Given the description of an element on the screen output the (x, y) to click on. 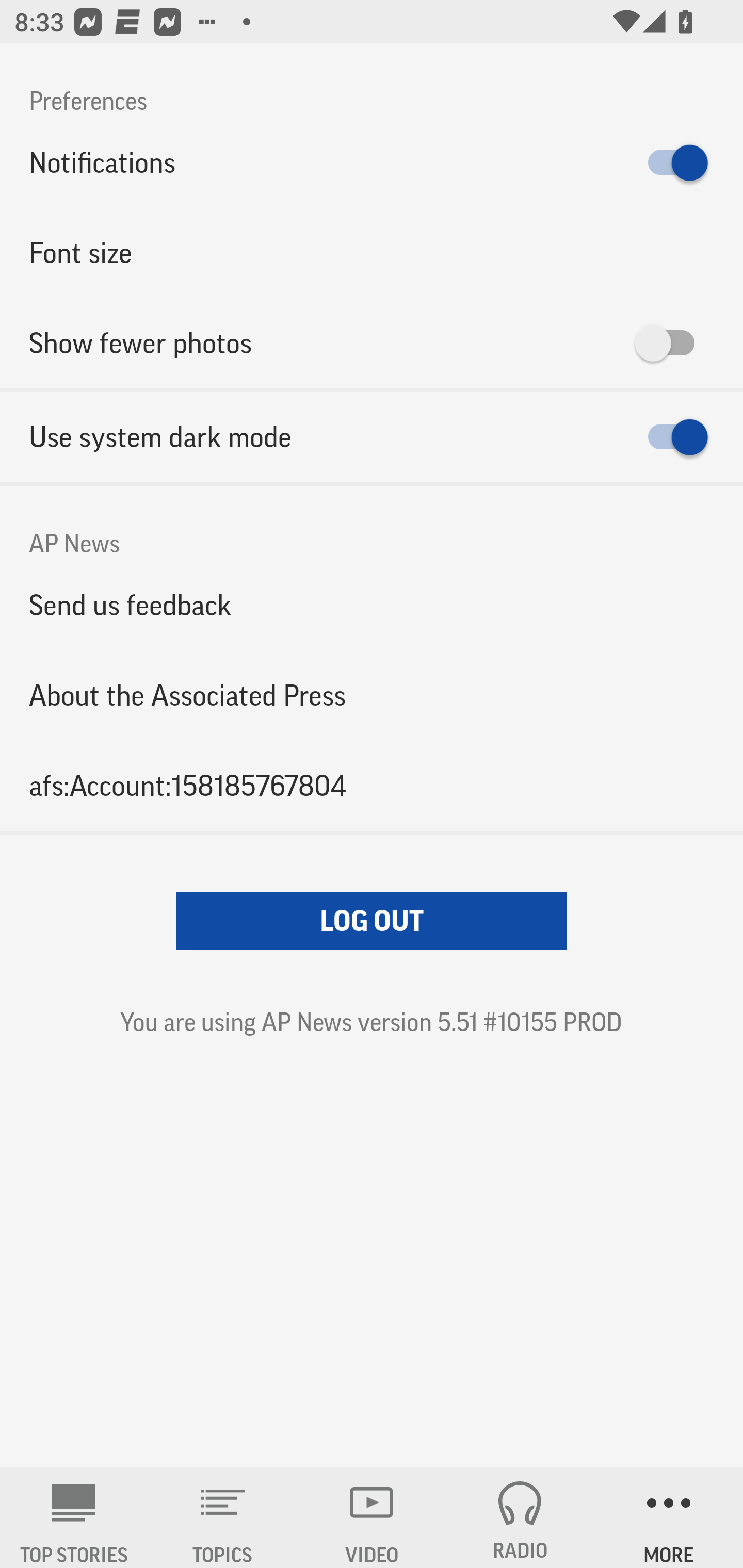
Notifications (371, 162)
Font size (371, 252)
Show fewer photos (371, 342)
Use system dark mode (371, 437)
Send us feedback (371, 604)
About the Associated Press (371, 695)
afs:Account:158185767804 (371, 785)
LOG OUT (371, 921)
AP News TOP STORIES (74, 1517)
TOPICS (222, 1517)
VIDEO (371, 1517)
RADIO (519, 1517)
MORE (668, 1517)
